Given the description of an element on the screen output the (x, y) to click on. 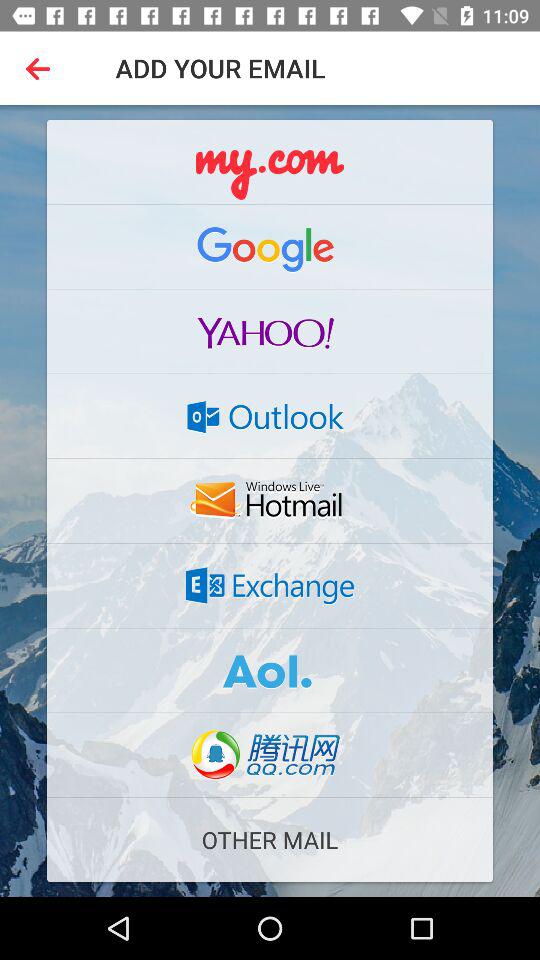
google (269, 246)
